Given the description of an element on the screen output the (x, y) to click on. 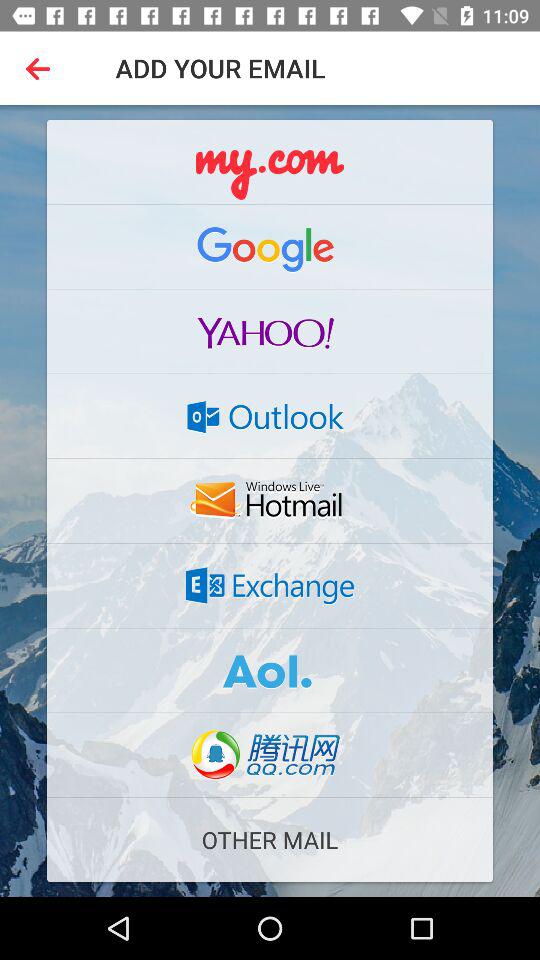
google (269, 246)
